Given the description of an element on the screen output the (x, y) to click on. 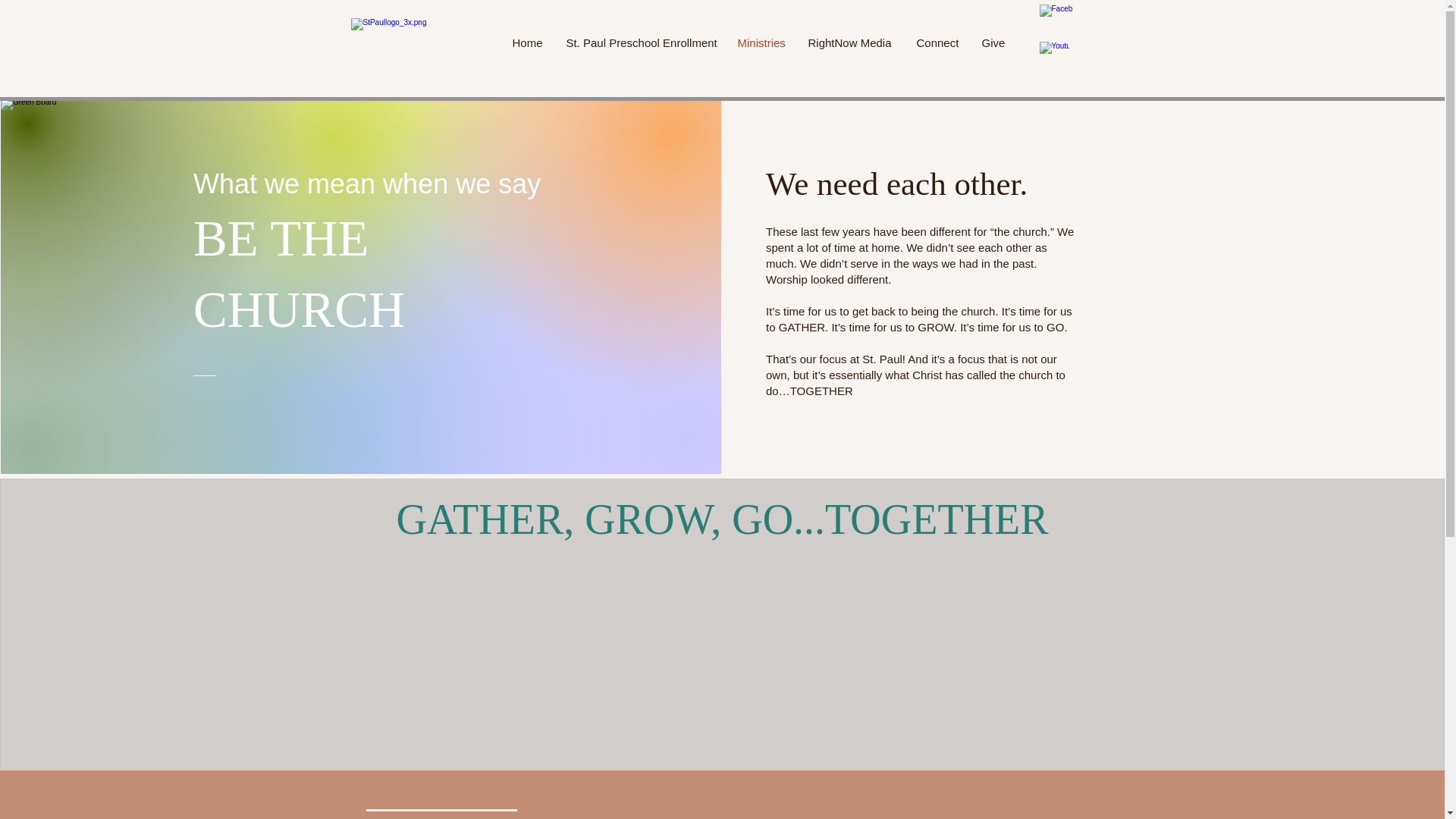
St. Paul Preschool Enrollment (640, 42)
RightNow Media (850, 42)
Ministries (761, 42)
Connect (938, 42)
